Given the description of an element on the screen output the (x, y) to click on. 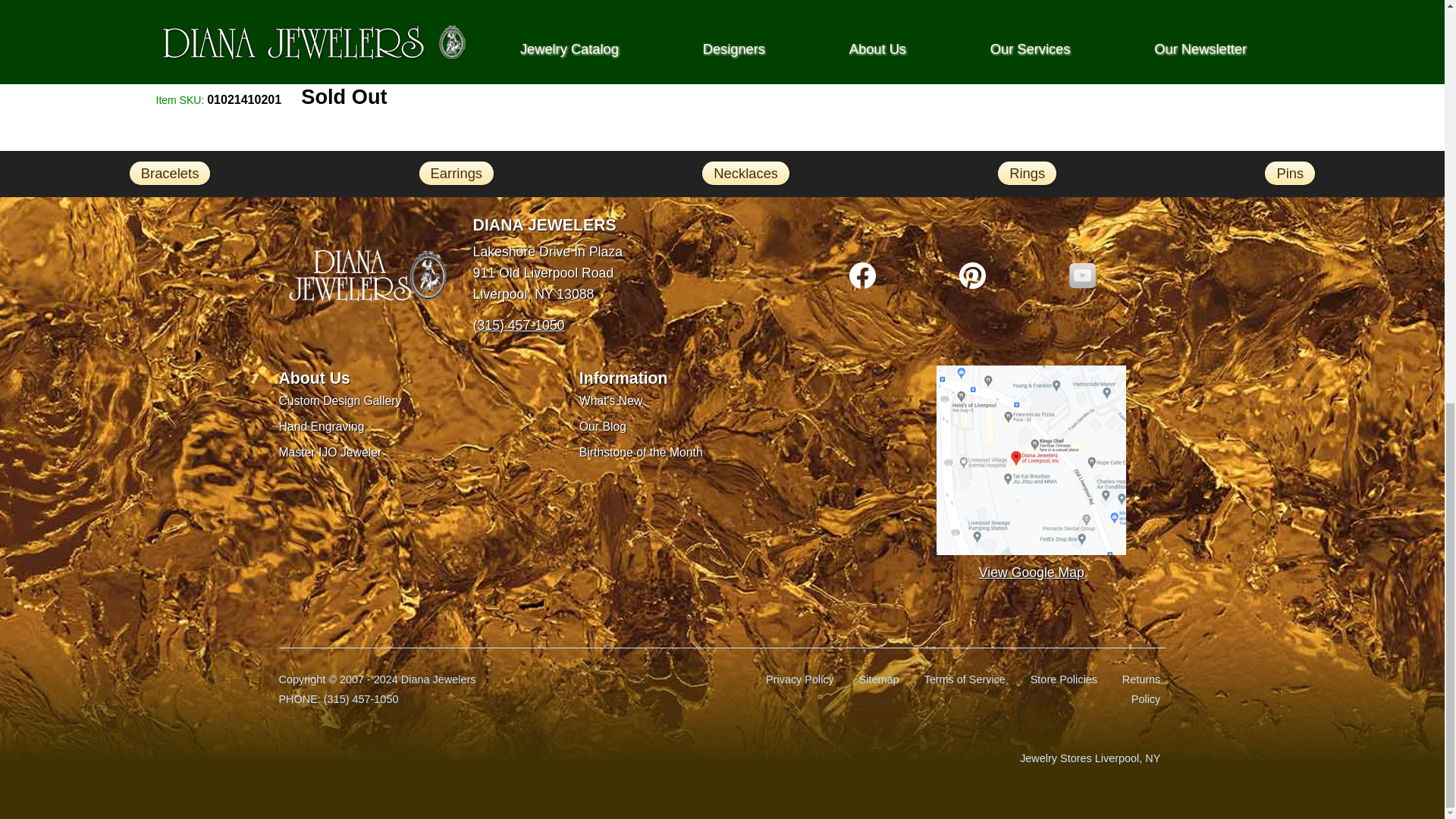
Sirena Black Mother-of-Pearl Ring (721, 38)
Bracelets (170, 173)
Rings (1027, 173)
REVOLUTION COLLECTION (933, 28)
Master IJO Jeweler (330, 451)
Necklaces (745, 173)
WAVE COLLECTION (301, 28)
Pins (1289, 173)
Earrings (456, 173)
REVOLUTION COLLECTION (512, 28)
Hand Engraving (322, 426)
Custom Design Gallery (340, 400)
